Given the description of an element on the screen output the (x, y) to click on. 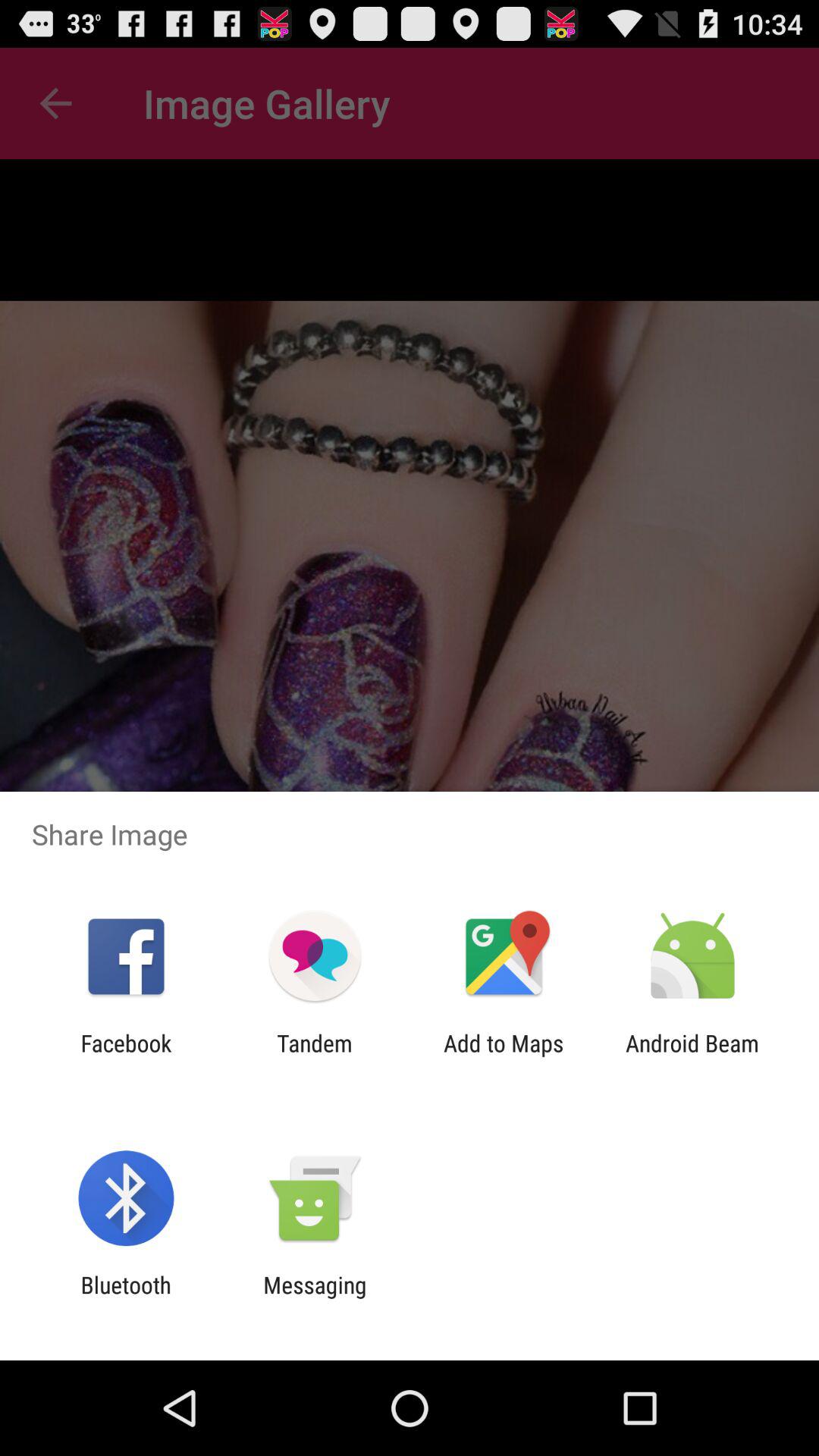
choose the app next to the tandem app (503, 1056)
